Given the description of an element on the screen output the (x, y) to click on. 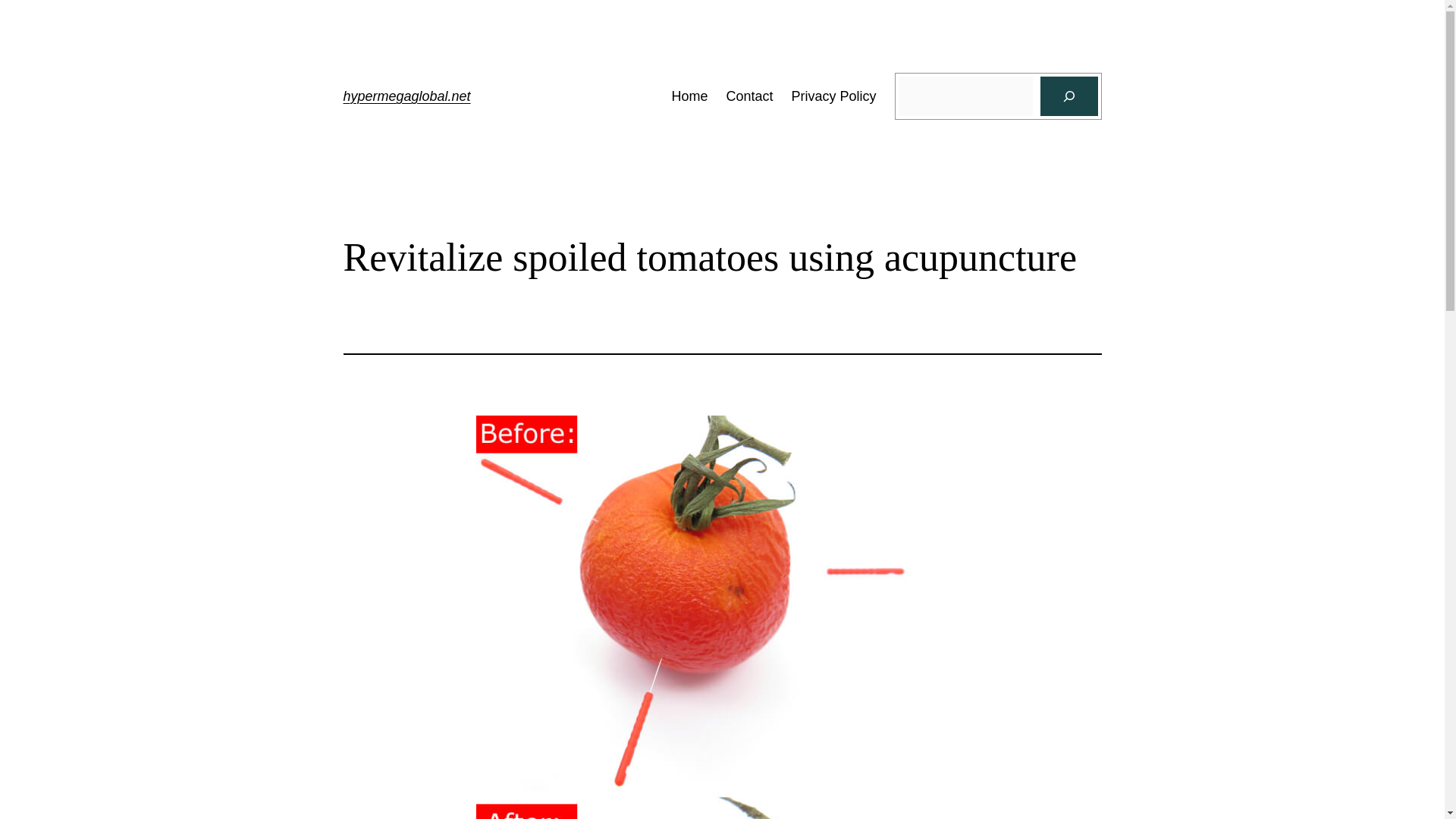
Home (689, 96)
hypermegaglobal.net (406, 96)
Contact (749, 96)
Privacy Policy (834, 96)
